Given the description of an element on the screen output the (x, y) to click on. 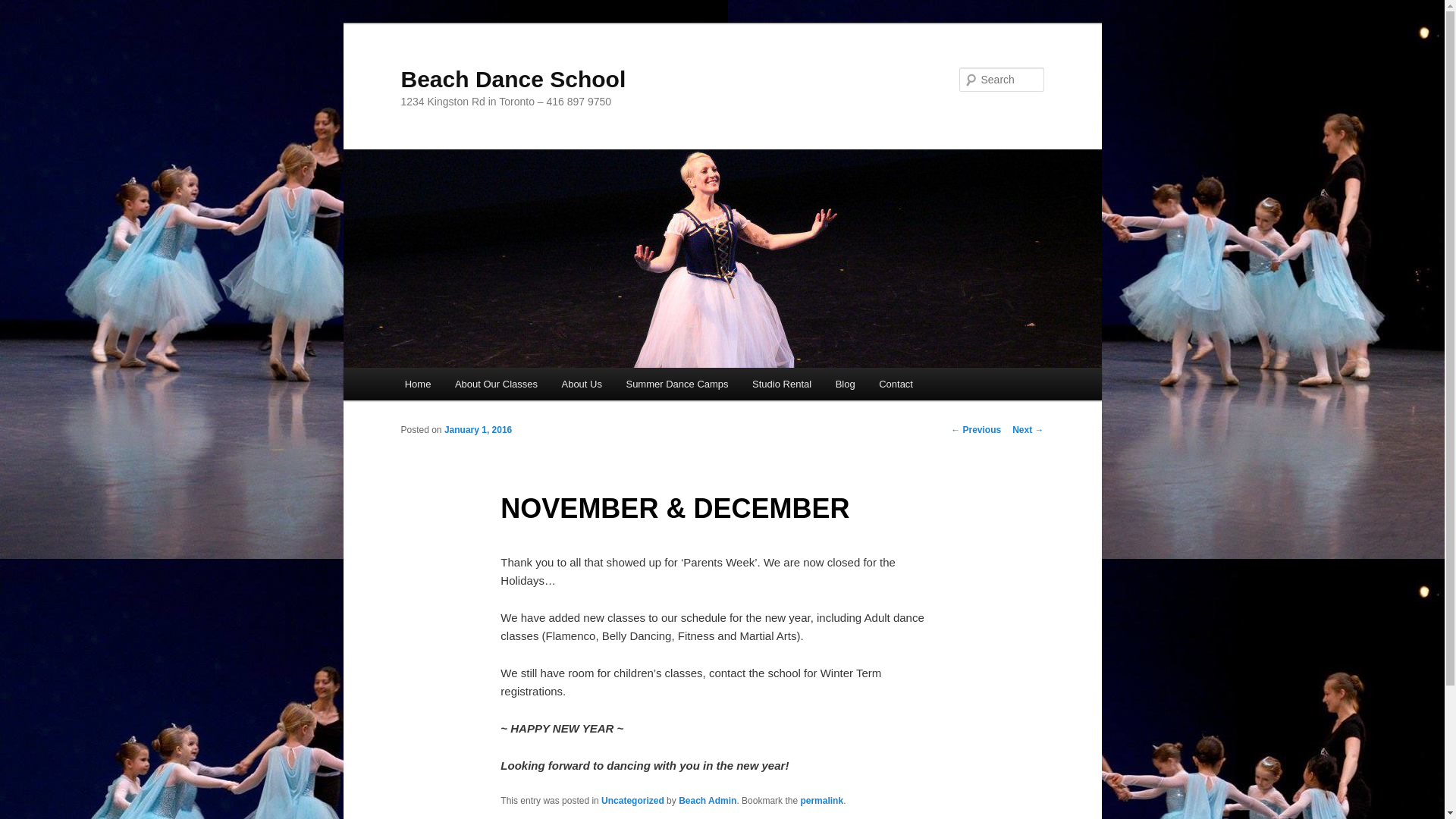
Home (417, 383)
Uncategorized (632, 800)
About Our Classes (496, 383)
Blog (845, 383)
January 1, 2016 (478, 429)
Search (24, 8)
Beach Admin (707, 800)
permalink (821, 800)
Beach Dance School (513, 78)
